Given the description of an element on the screen output the (x, y) to click on. 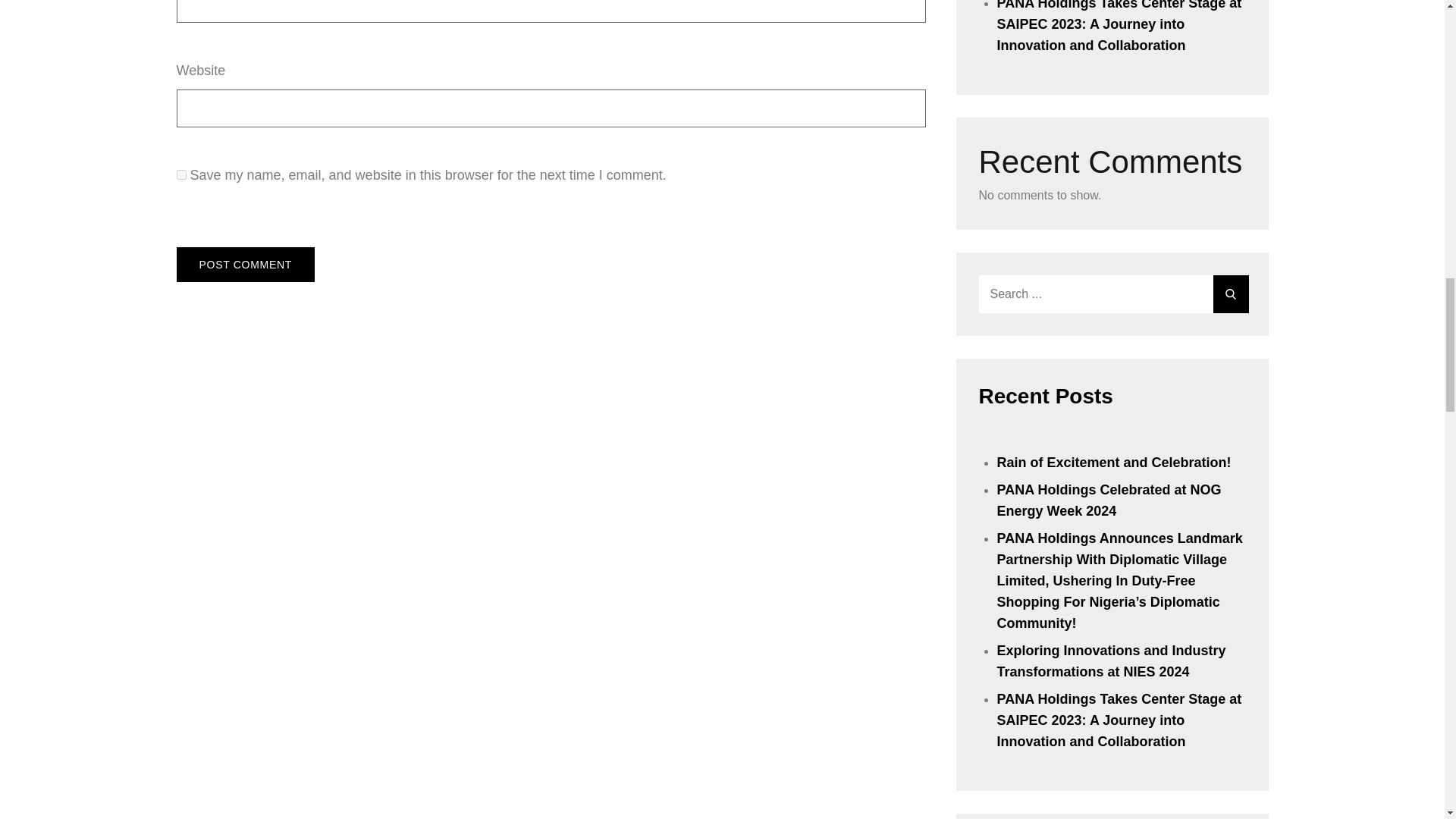
Post Comment (245, 264)
Search for: (1111, 293)
Post Comment (245, 264)
yes (181, 174)
